Given the description of an element on the screen output the (x, y) to click on. 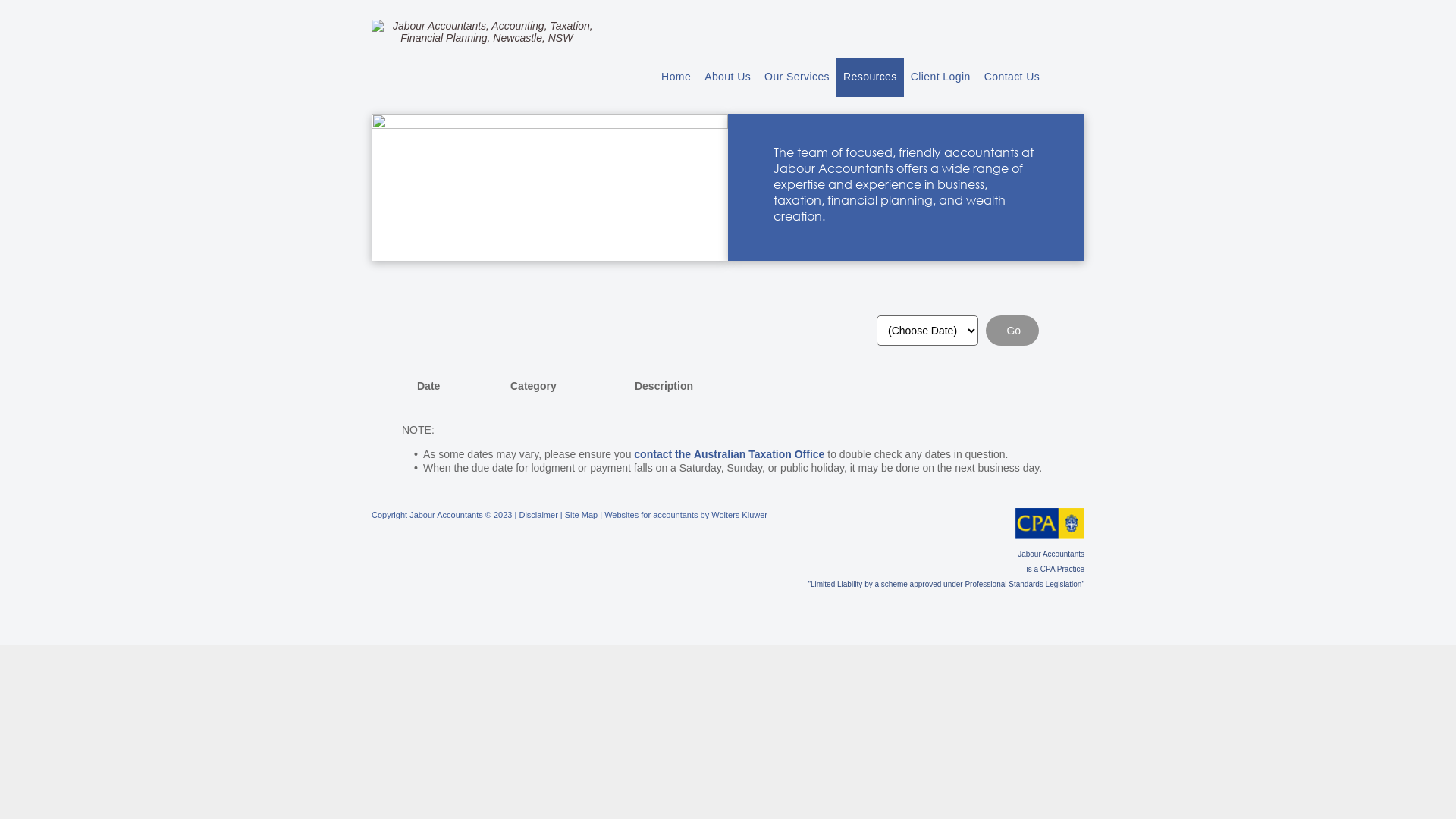
Websites for accountants by Wolters Kluwer Element type: text (685, 514)
About Us Element type: text (727, 77)
Disclaimer Element type: text (537, 514)
contact the Element type: text (661, 454)
Site Map Element type: text (580, 514)
Contact Us Element type: text (1011, 77)
Home Element type: text (675, 77)
Resources Element type: text (869, 77)
Australian Taxation Office Element type: text (758, 454)
Our Services Element type: text (796, 77)
Client Login Element type: text (940, 77)
